Given the description of an element on the screen output the (x, y) to click on. 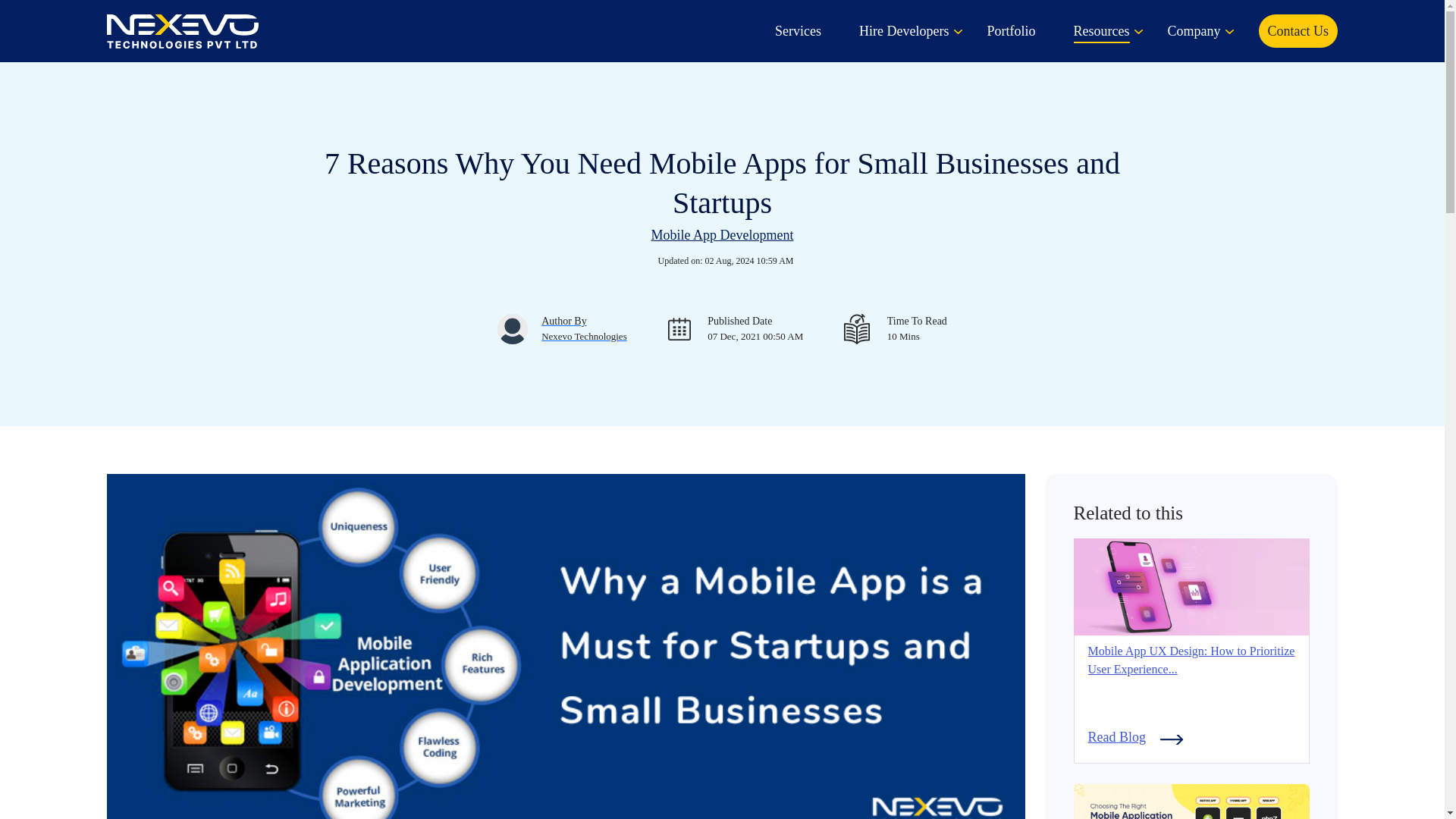
Services (797, 30)
Author (577, 328)
Pulished On (748, 328)
Time To Read (910, 328)
Hire Developers (904, 30)
Contact Us (1298, 30)
Portfolio (1011, 30)
